Given the description of an element on the screen output the (x, y) to click on. 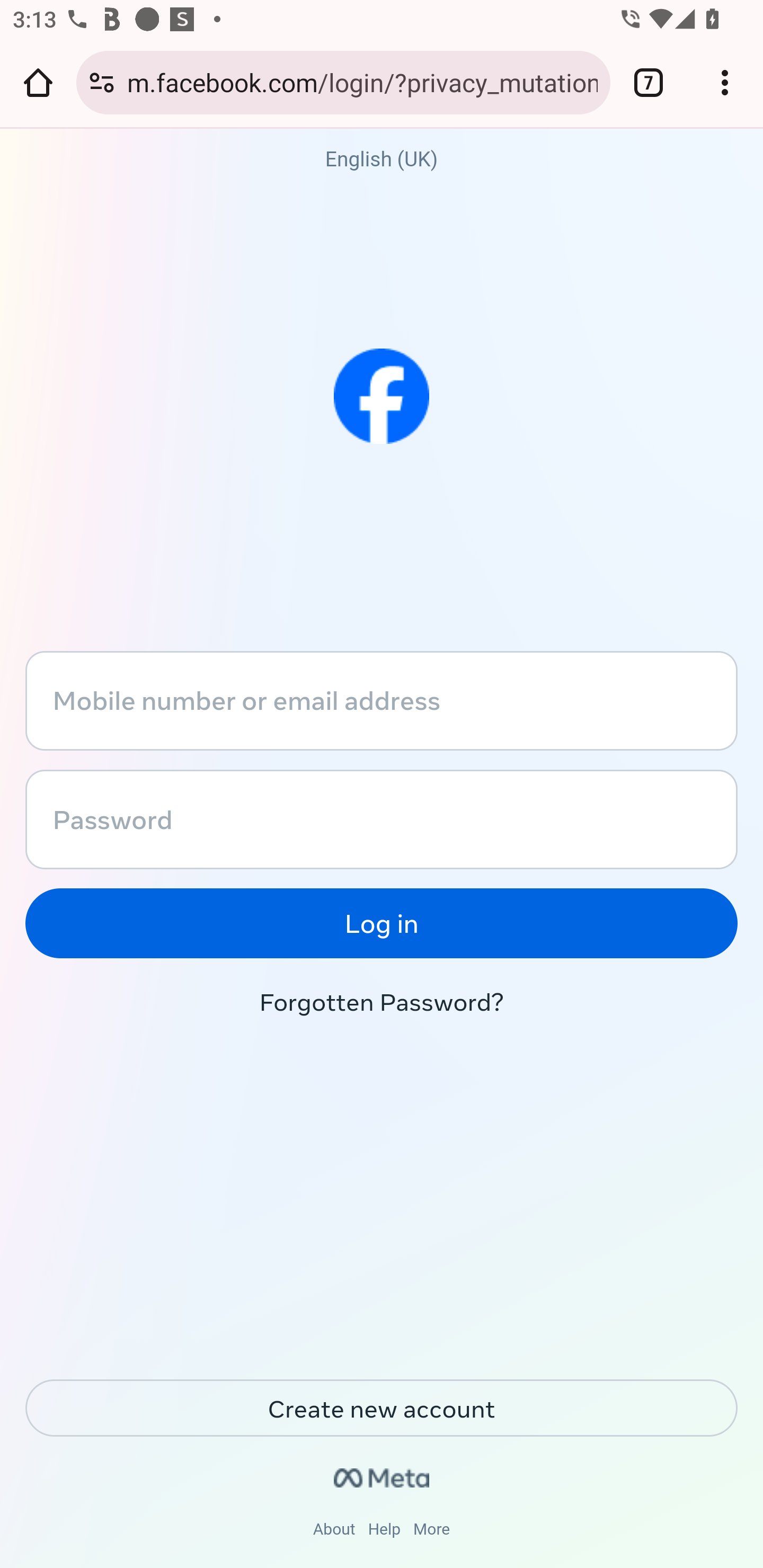
Open the home page (38, 82)
Connection is secure (101, 82)
Switch or close tabs (648, 82)
Customize and control Google Chrome (724, 82)
